Given the description of an element on the screen output the (x, y) to click on. 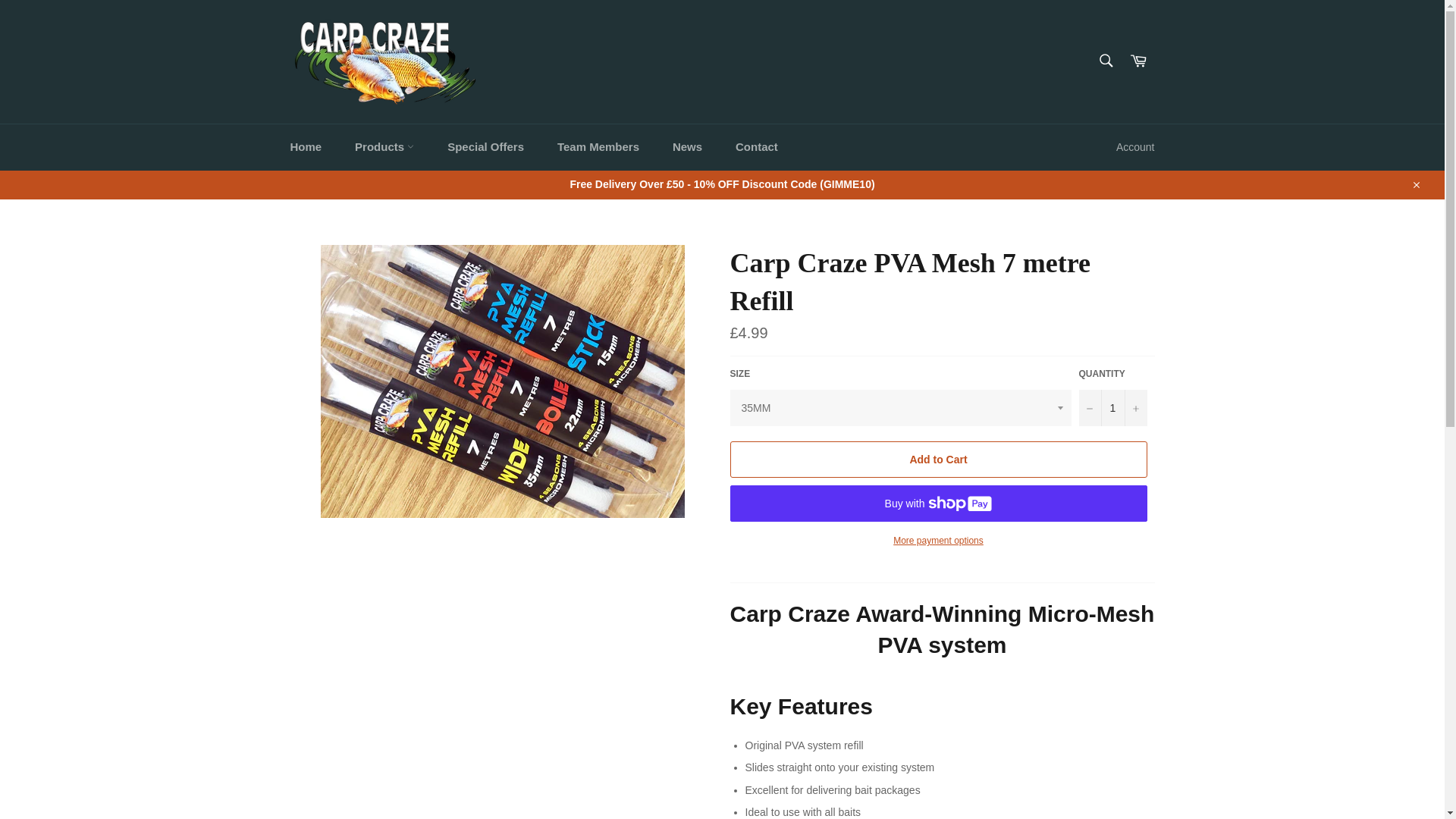
Home (305, 147)
Search (1104, 60)
Account (1134, 147)
Contact (756, 147)
1 (1112, 407)
Special Offers (485, 147)
Close (1414, 184)
News (687, 147)
Add to Cart (938, 459)
Team Members (597, 147)
